Given the description of an element on the screen output the (x, y) to click on. 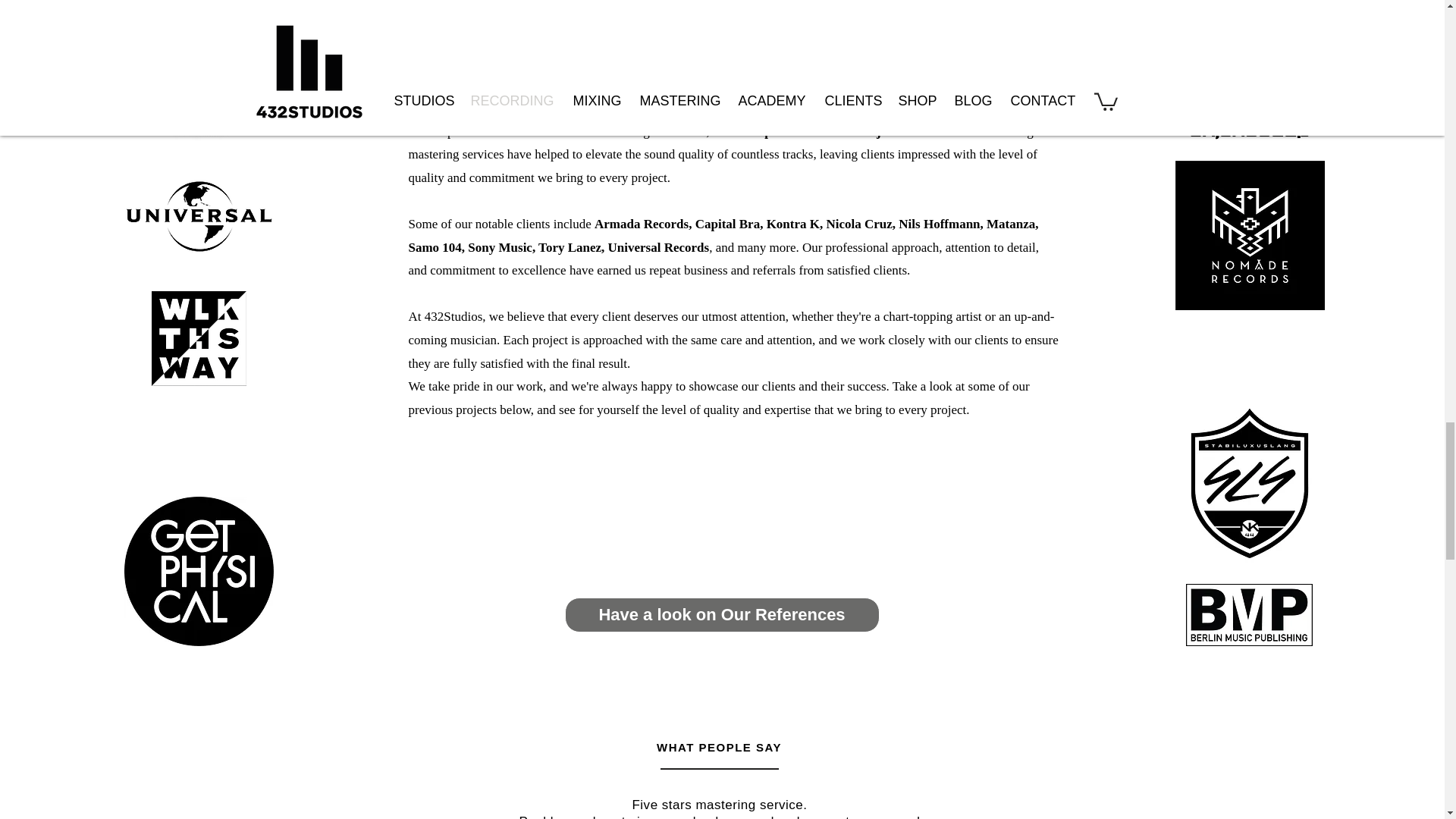
Have a look on Our References (721, 614)
SLS MusicLogo (1249, 482)
Who we work with (734, 81)
